Given the description of an element on the screen output the (x, y) to click on. 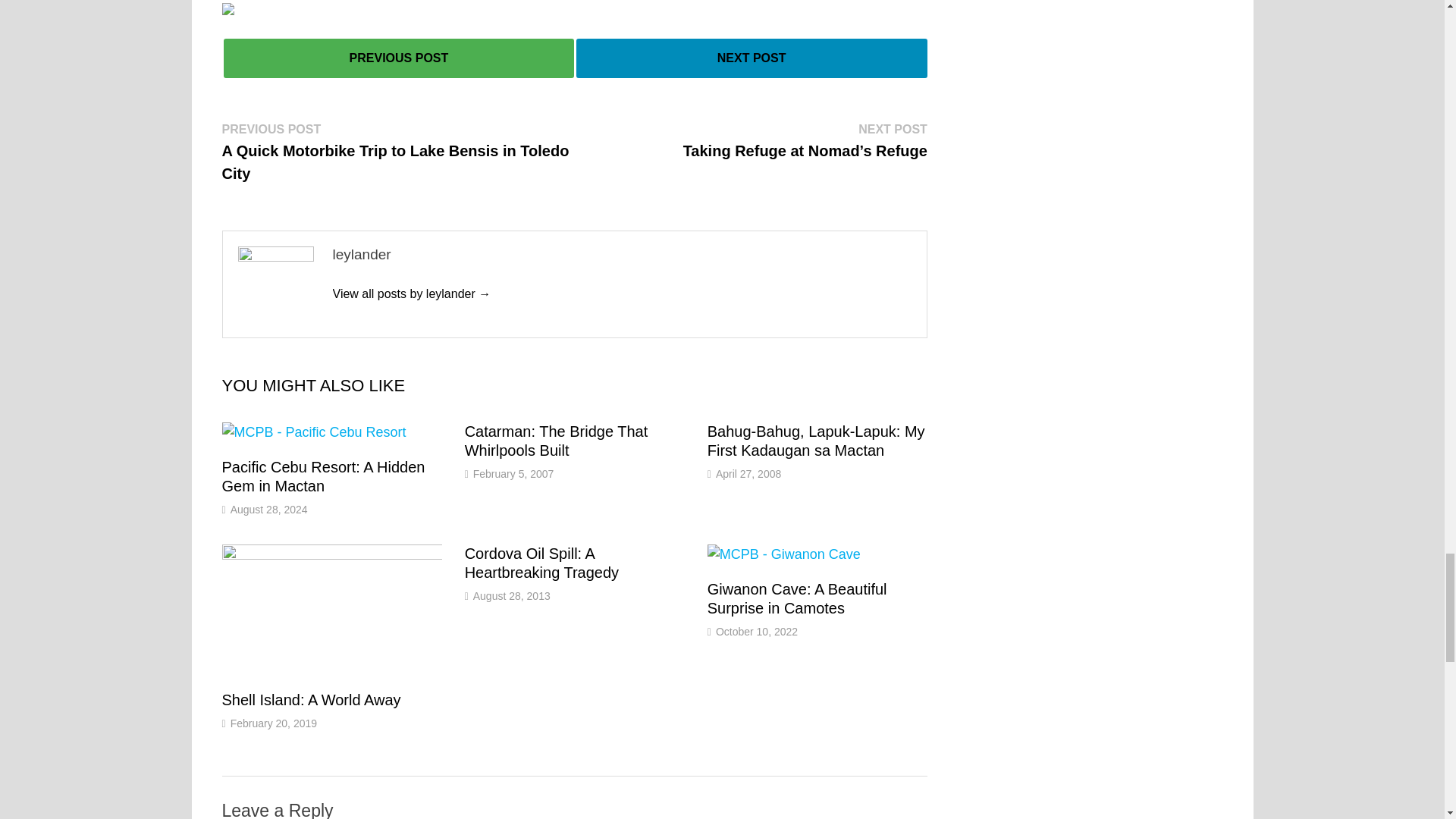
NEXT POST (751, 56)
Bahug-Bahug, Lapuk-Lapuk: My First Kadaugan sa Mactan (815, 440)
NEXT POST (751, 57)
PREVIOUS POST (398, 57)
PREVIOUS POST (397, 56)
leylander (410, 293)
Cordova Oil Spill: A Heartbreaking Tragedy (541, 562)
Shell Island: A World Away (310, 699)
A Quick Motorbike Trip to Lake Bensis in Toledo City (398, 57)
